Given the description of an element on the screen output the (x, y) to click on. 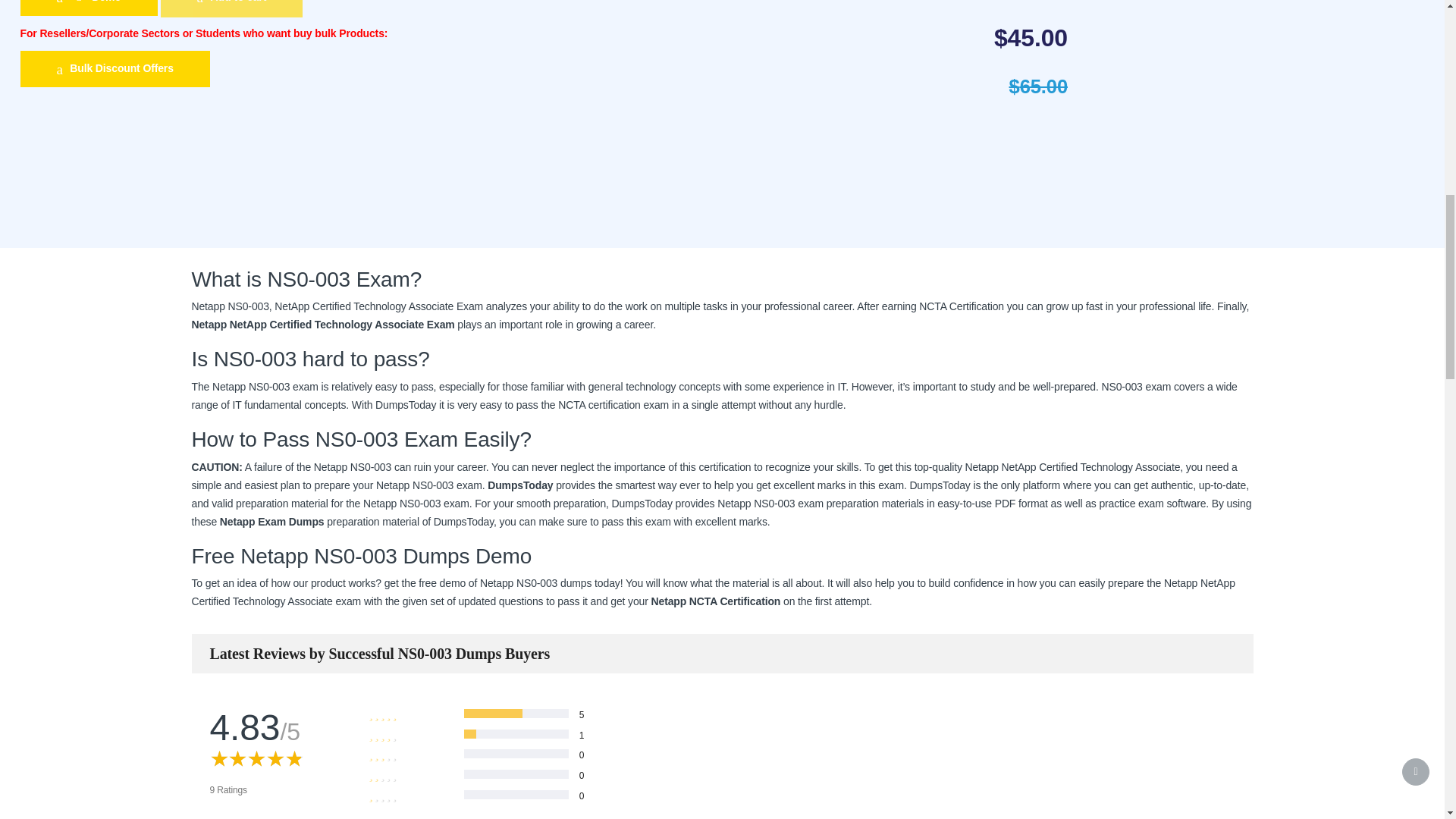
 Netapp Exam Dumps (271, 521)
Netapp NetApp Certified Technology Associate Exam (322, 324)
Add to cart (231, 8)
Bulk Discount Offers (114, 68)
Netapp Exam Dumps (271, 521)
Demo (88, 7)
